Given the description of an element on the screen output the (x, y) to click on. 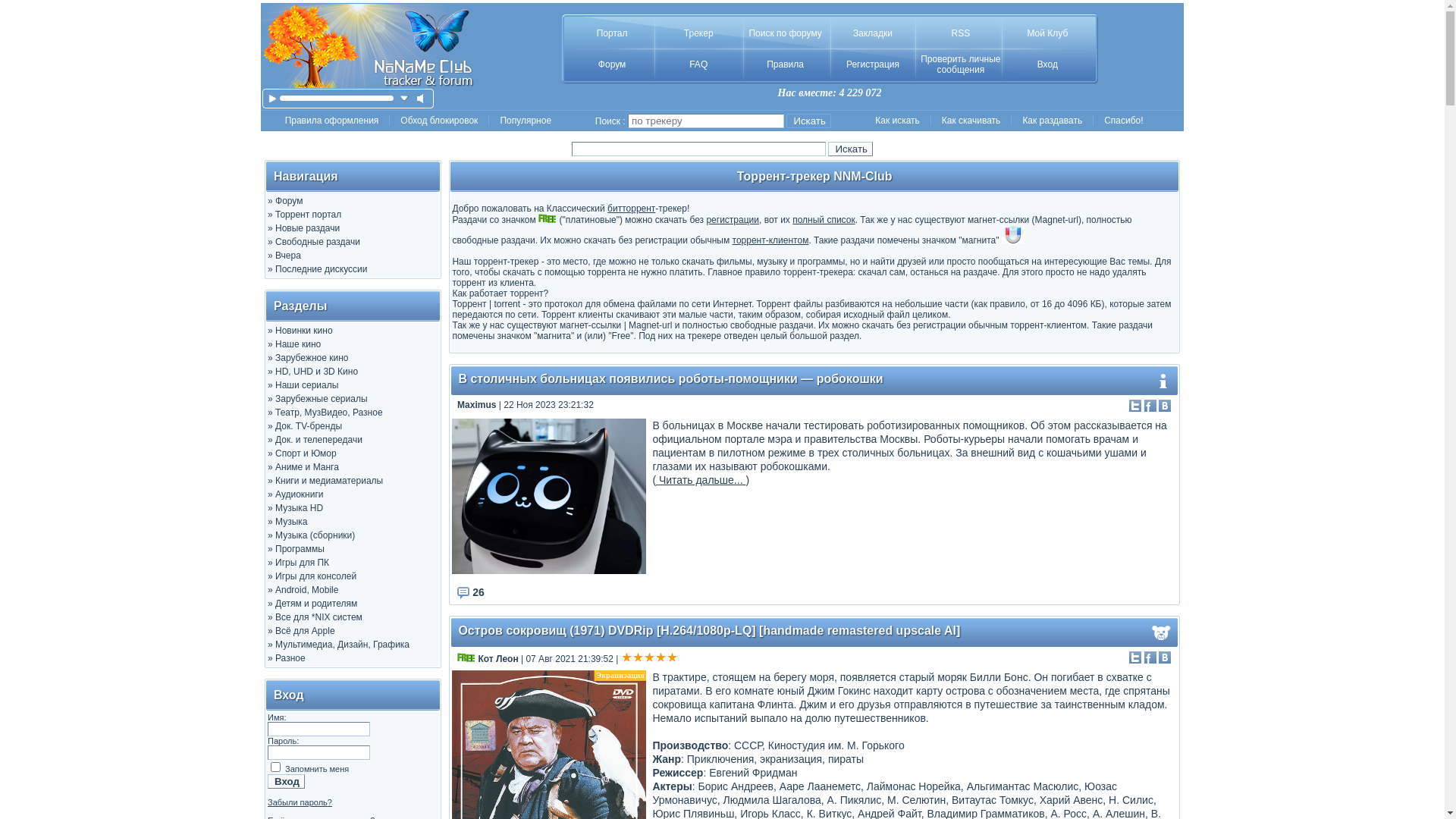
Android, Mobile Element type: text (306, 589)
RSS Element type: text (959, 32)
FAQ Element type: text (698, 64)
pic Element type: hover (548, 496)
26 Element type: text (470, 592)
